Given the description of an element on the screen output the (x, y) to click on. 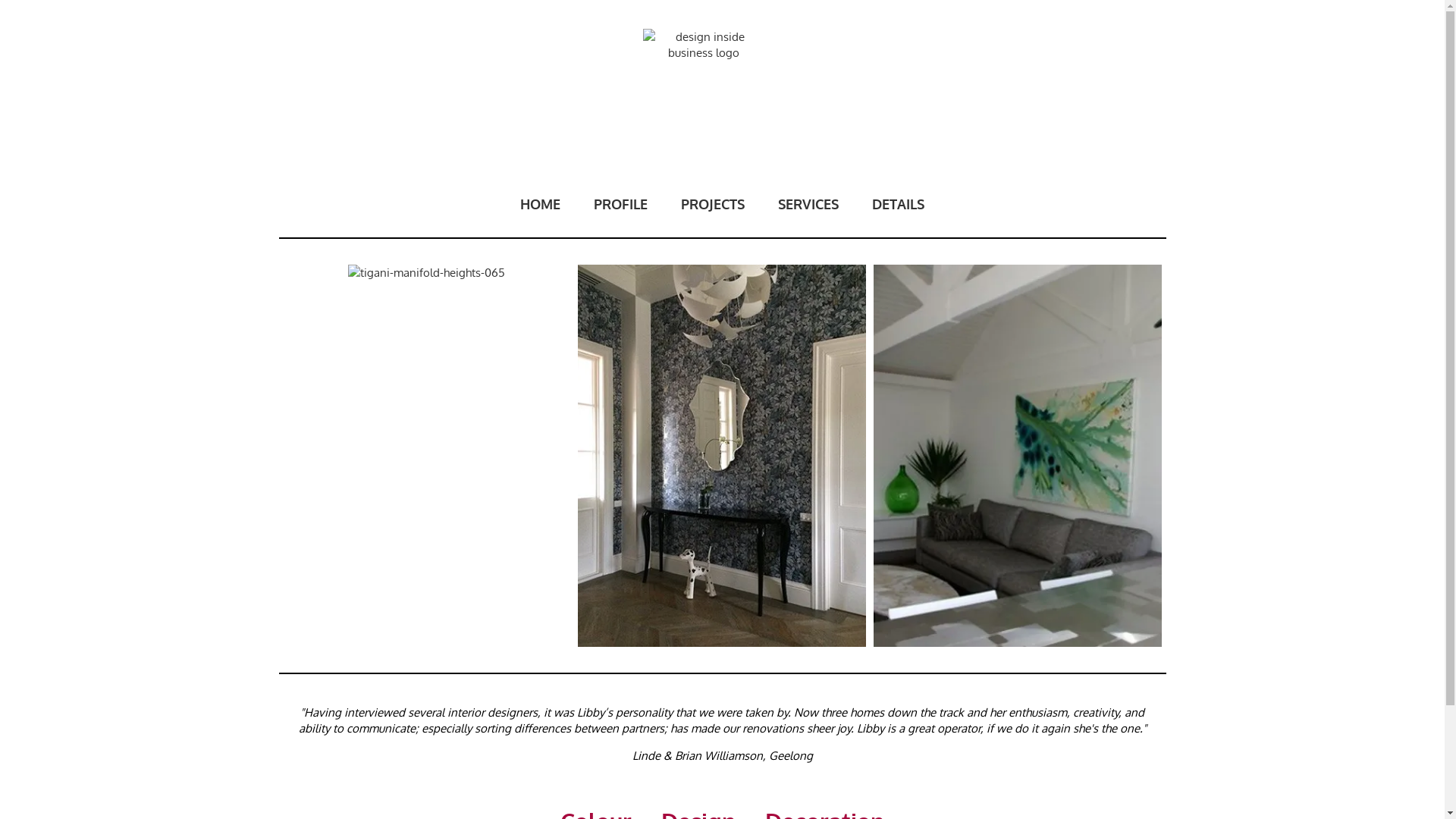
design-inside-interior-design-concept Element type: hover (1017, 455)
design inside business logo Element type: hover (703, 64)
PROJECTS Element type: text (712, 203)
DETAILS Element type: text (898, 203)
tigani-manifold-heights-065 Element type: hover (426, 368)
HOME Element type: text (540, 203)
SERVICES Element type: text (808, 203)
design-inside-interior-designed-wall Element type: hover (721, 455)
PROFILE Element type: text (620, 203)
